Given the description of an element on the screen output the (x, y) to click on. 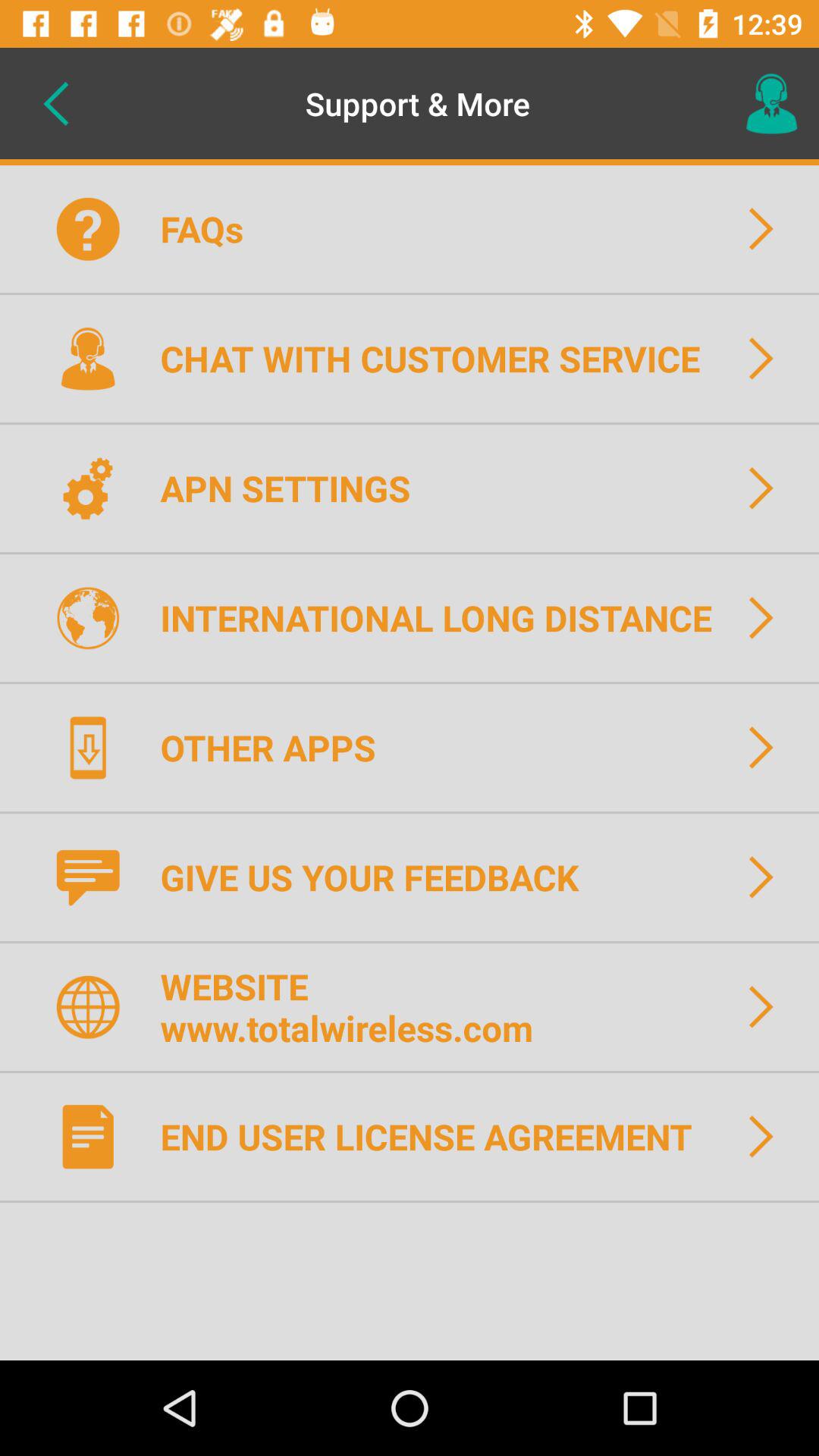
choose the chat with customer item (439, 358)
